Given the description of an element on the screen output the (x, y) to click on. 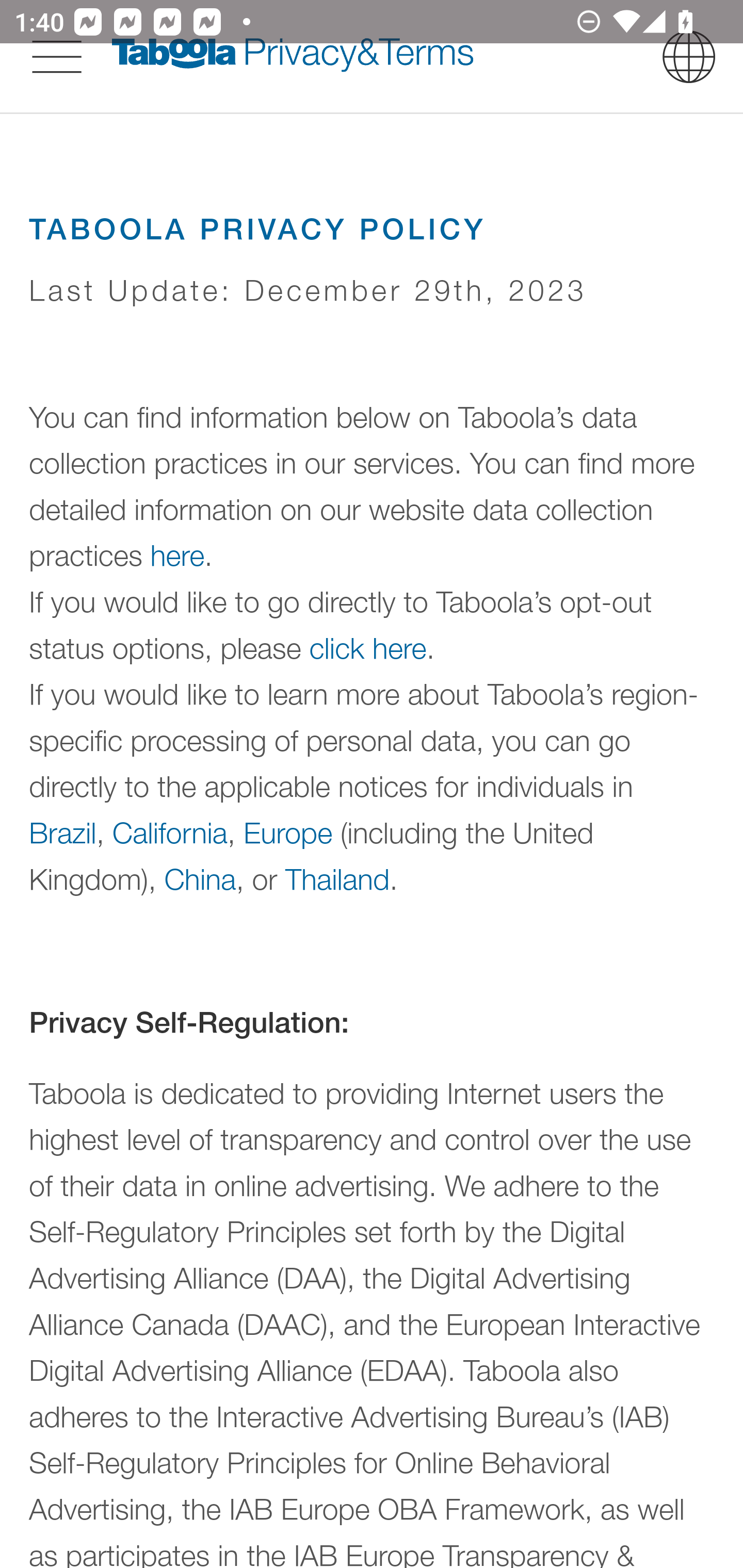
Taboola Privacy & Terms Logo (292, 56)
English (688, 56)
here (177, 555)
click here (367, 648)
Brazil (62, 831)
California (170, 831)
Europe (287, 831)
China (199, 878)
Thailand (337, 878)
